Given the description of an element on the screen output the (x, y) to click on. 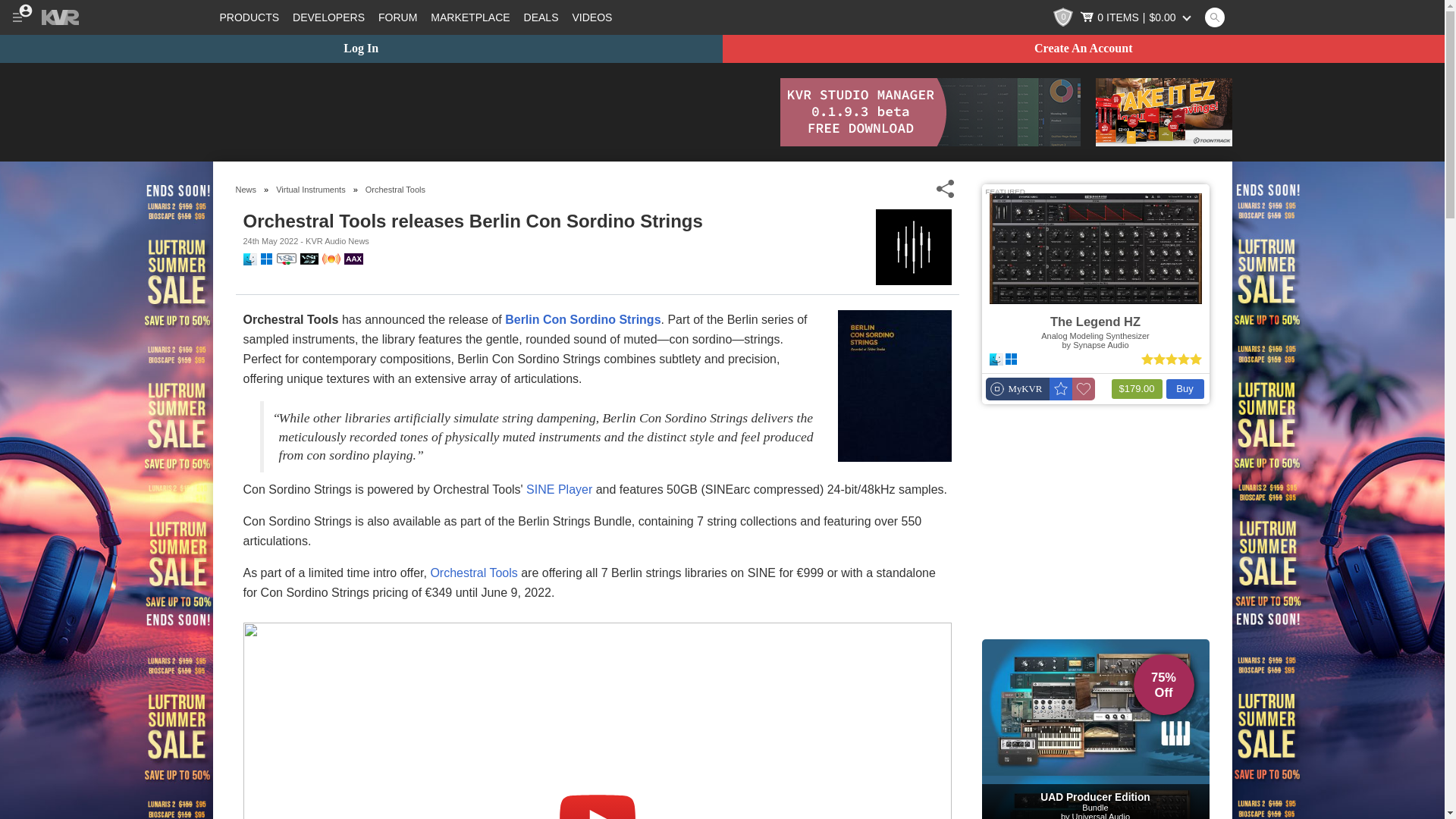
Cart (1136, 17)
Toontrack - Take-It-EZ (1162, 111)
3rd party ad content (488, 111)
Posts by KVR Audio News (337, 240)
Share This (945, 189)
